Given the description of an element on the screen output the (x, y) to click on. 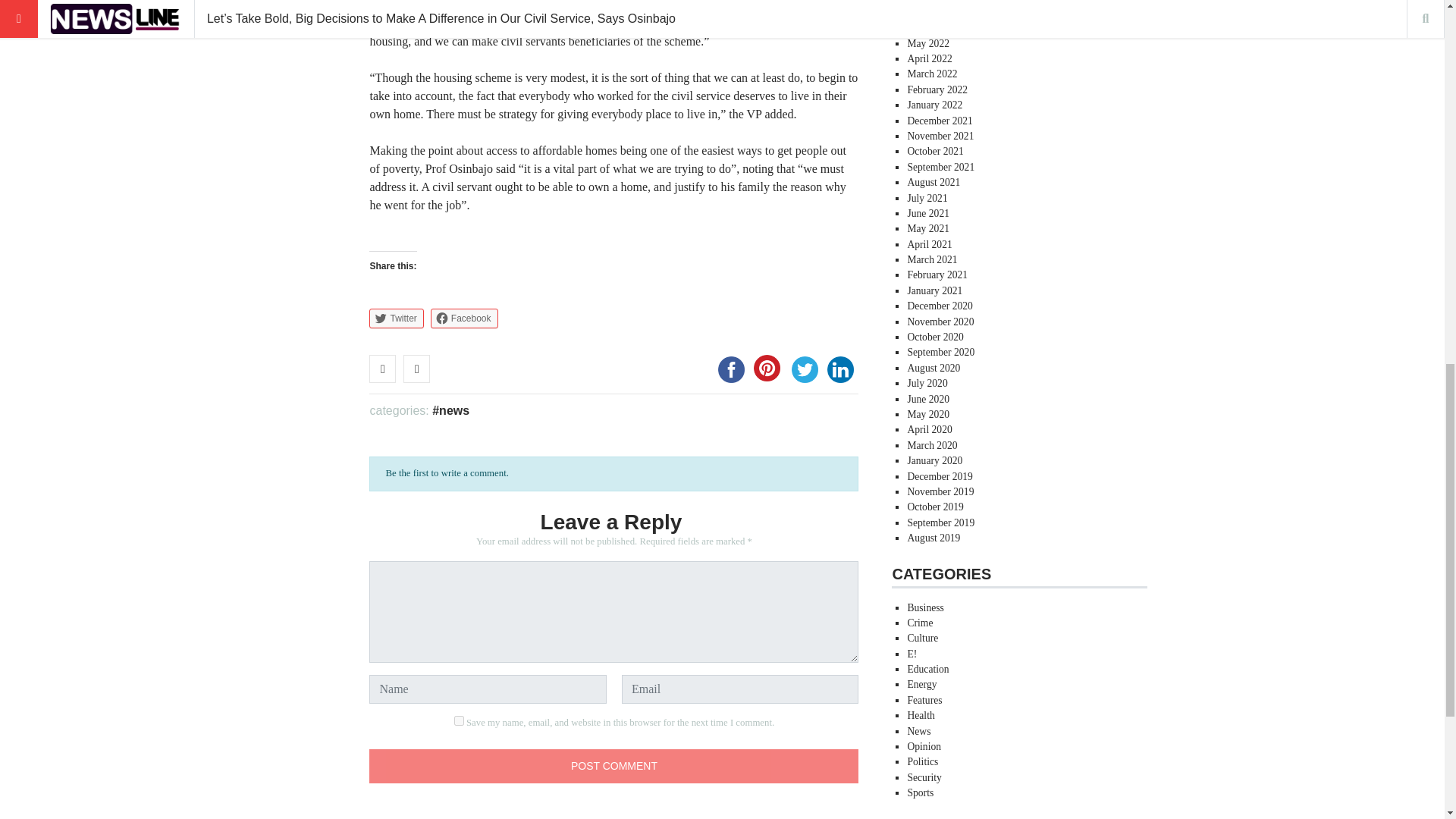
news (450, 410)
October 2021 (934, 151)
Post Comment (614, 765)
April 2022 (929, 58)
Facebook (731, 369)
May 2022 (928, 43)
February 2022 (937, 89)
August 2021 (933, 182)
Click to share on Twitter (396, 318)
December 2021 (939, 120)
Twitter (396, 318)
September 2021 (940, 166)
January 2022 (934, 104)
Click to share on Facebook (463, 318)
March 2022 (931, 73)
